Given the description of an element on the screen output the (x, y) to click on. 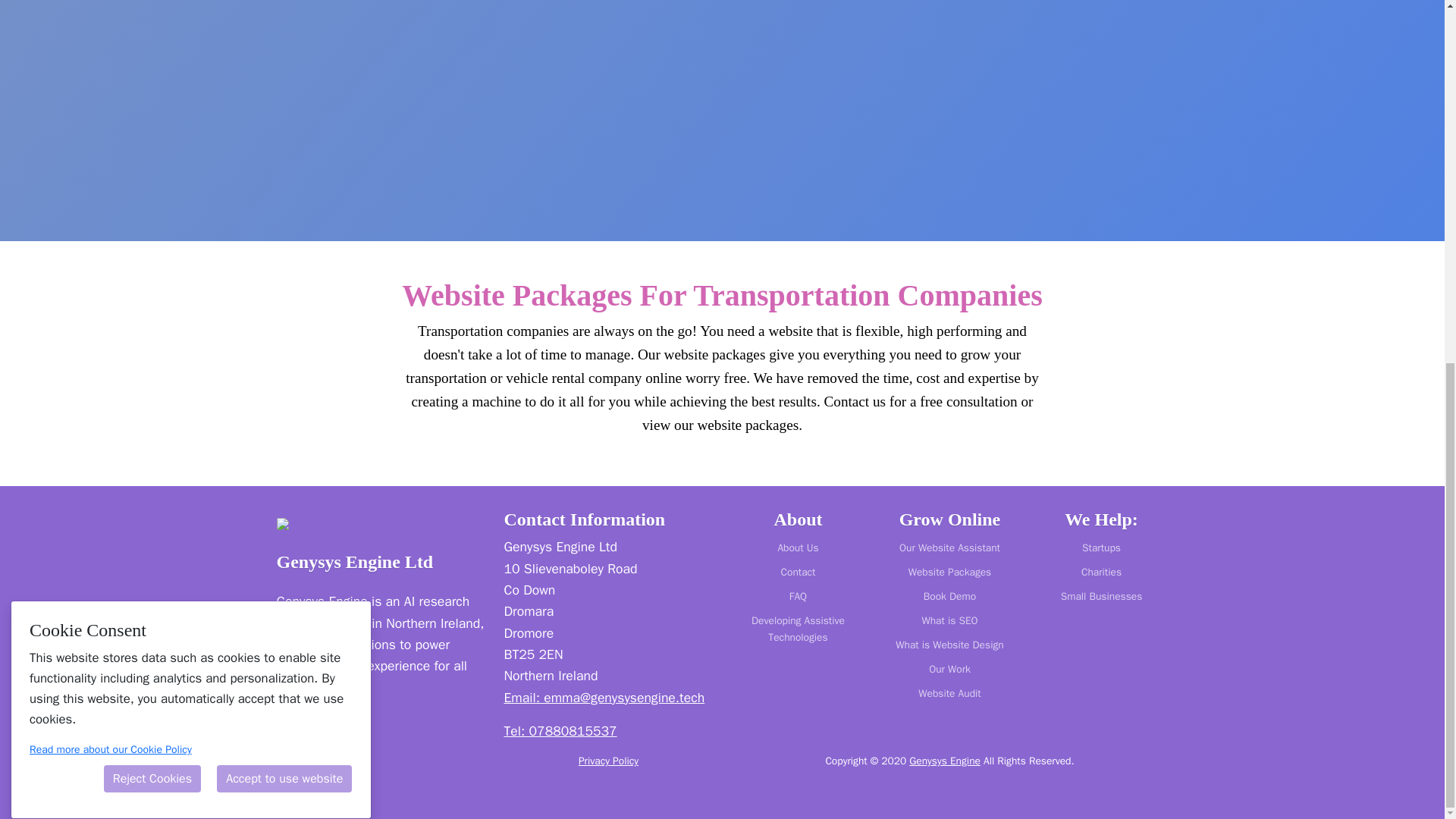
Grow Online (949, 519)
social button to facebook (328, 775)
Book Demo (949, 596)
About Us (798, 548)
About (797, 519)
Website Packages (949, 572)
FAQ (798, 596)
Developing Assistive Technologies (798, 629)
Our Website Assistant (949, 548)
Tel: 07880815537 (559, 730)
